Given the description of an element on the screen output the (x, y) to click on. 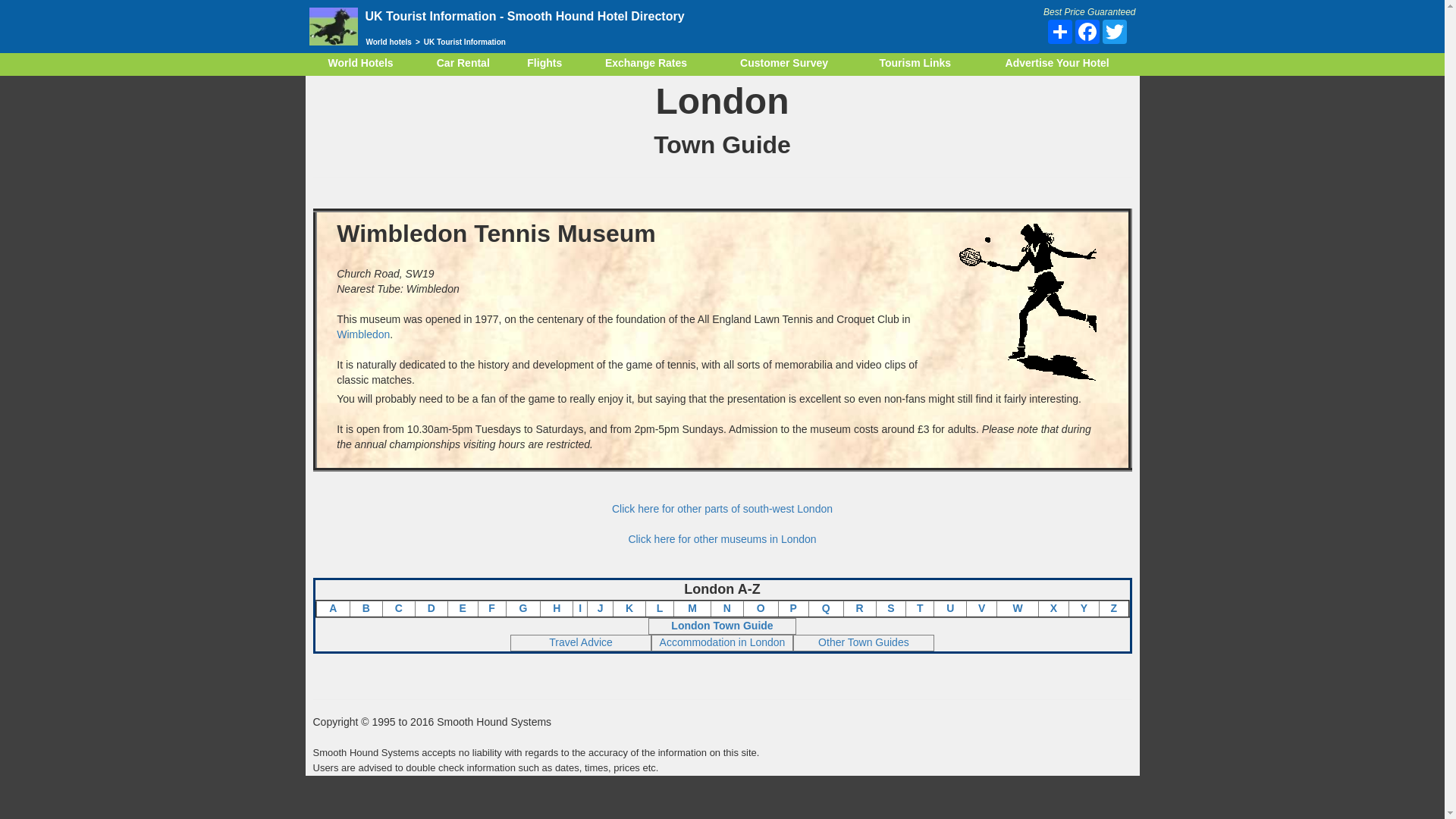
World hotels (389, 41)
Advertise Your Hotel (1057, 64)
Wimbledon (363, 334)
Customer Survey (783, 64)
Tourism Links (915, 64)
Click here for other parts of south-west London (721, 508)
Click here for other museums in London (721, 539)
Twitter (1114, 31)
Flights (545, 64)
Exchange Rates (646, 64)
World Hotels (359, 64)
Car Rental (463, 64)
Facebook (1087, 31)
